Given the description of an element on the screen output the (x, y) to click on. 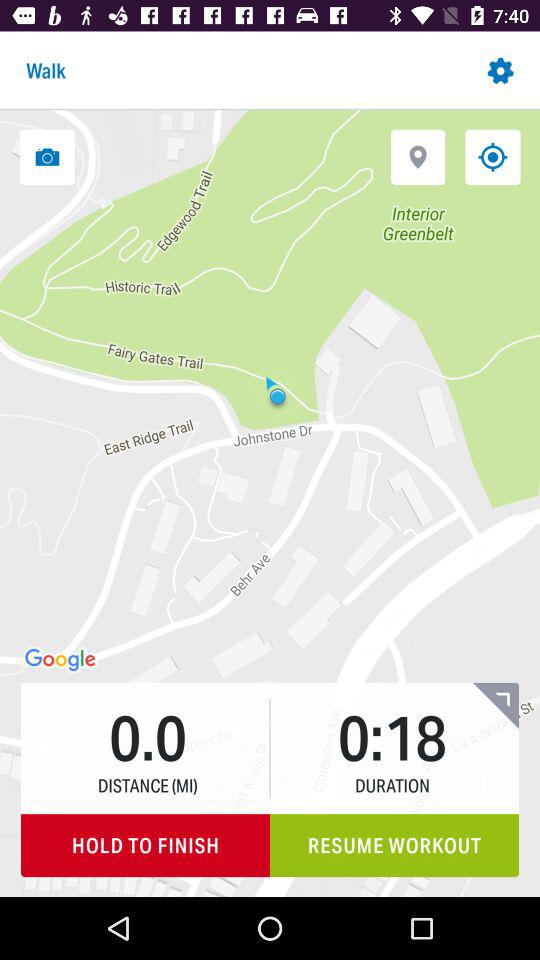
open the icon next to hold to finish icon (394, 845)
